Given the description of an element on the screen output the (x, y) to click on. 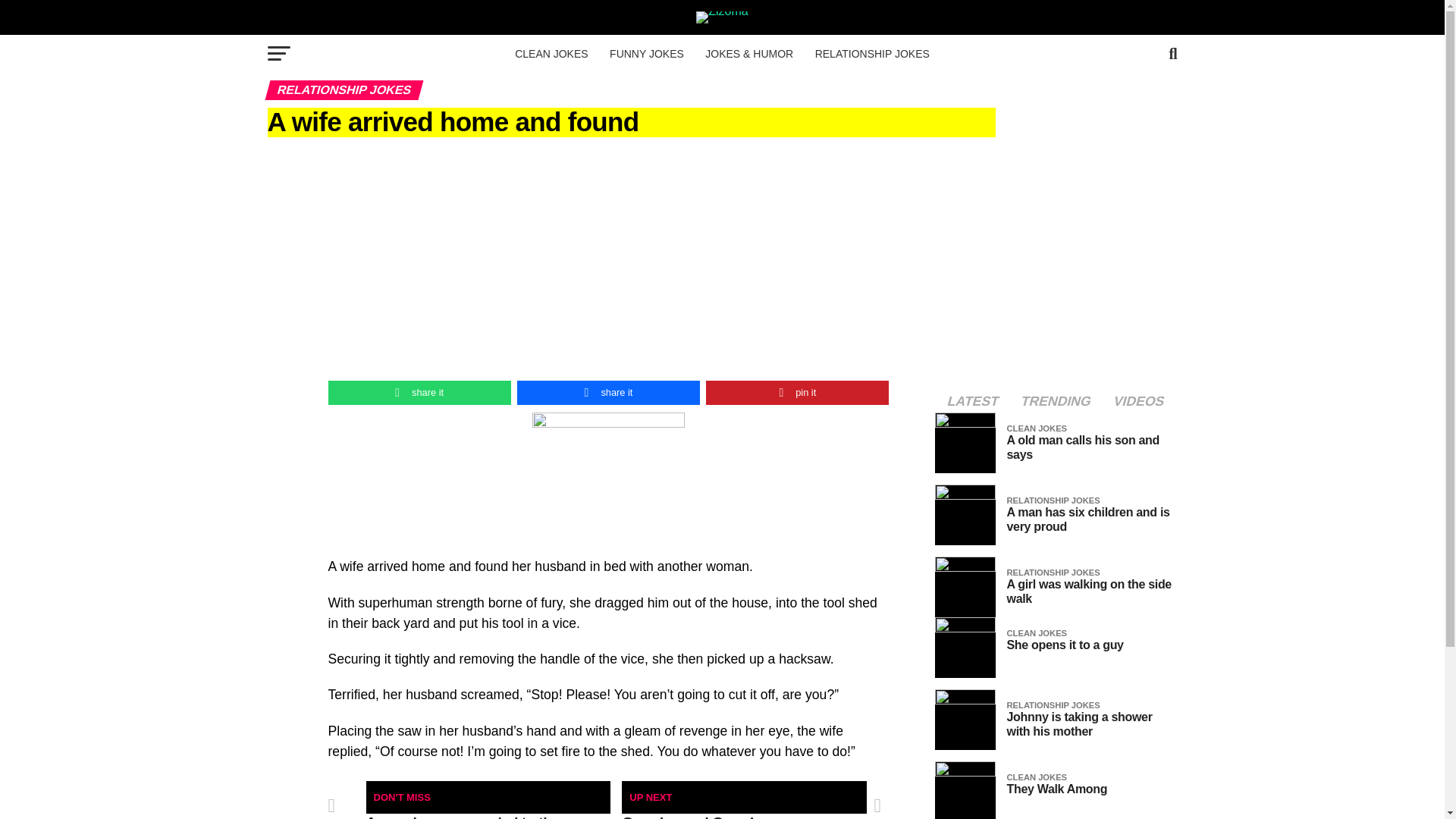
RELATIONSHIP JOKES (872, 53)
CLEAN JOKES (550, 53)
VIDEOS (1138, 401)
share it (419, 392)
Share this on Facebook (608, 392)
FUNNY JOKES (646, 53)
Submit this to Pinterest (797, 392)
LATEST (973, 401)
share it (608, 392)
pin it (797, 392)
WhatsApp (419, 392)
TRENDING (1055, 401)
